Given the description of an element on the screen output the (x, y) to click on. 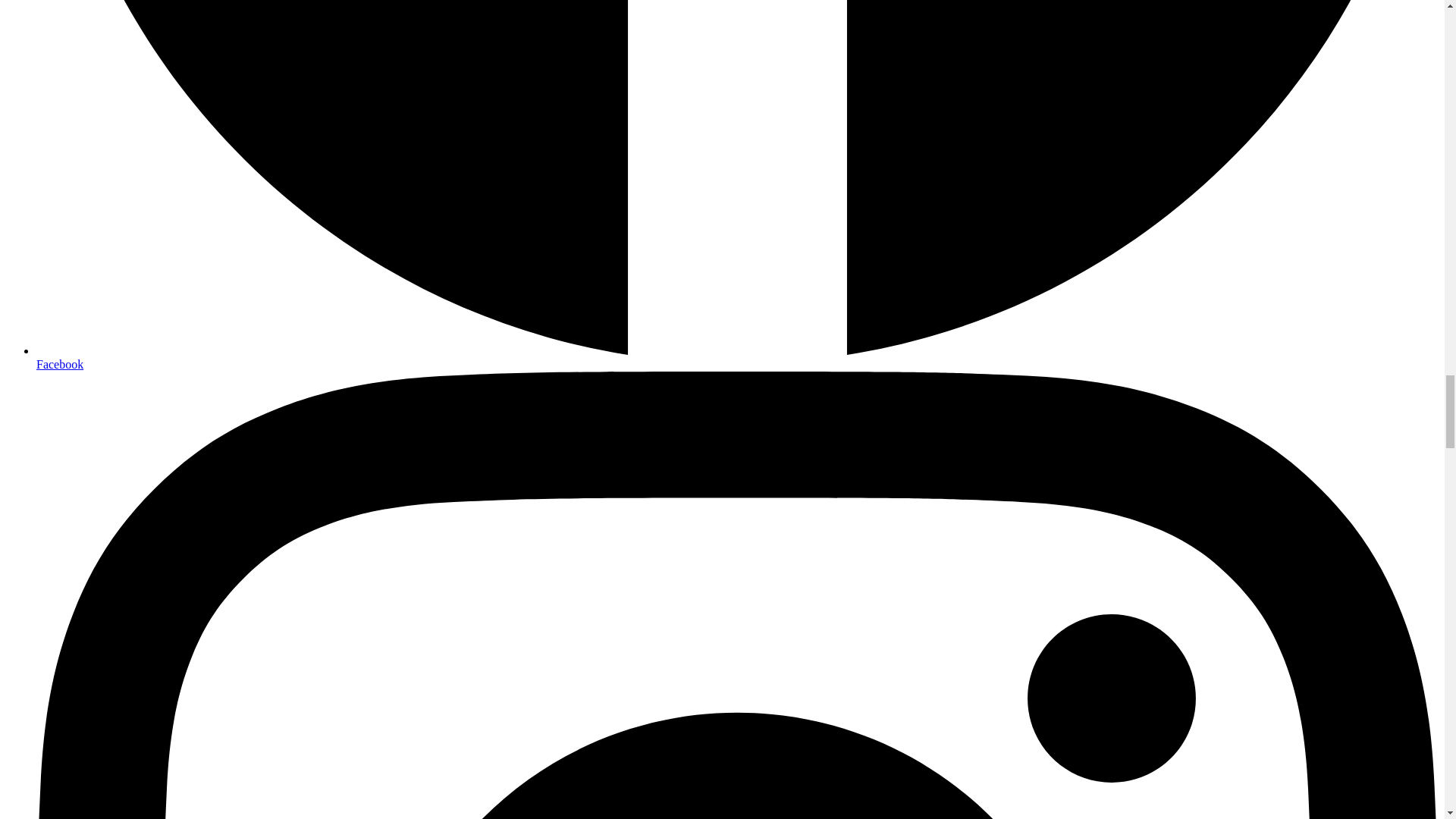
Facebook (59, 364)
